Given the description of an element on the screen output the (x, y) to click on. 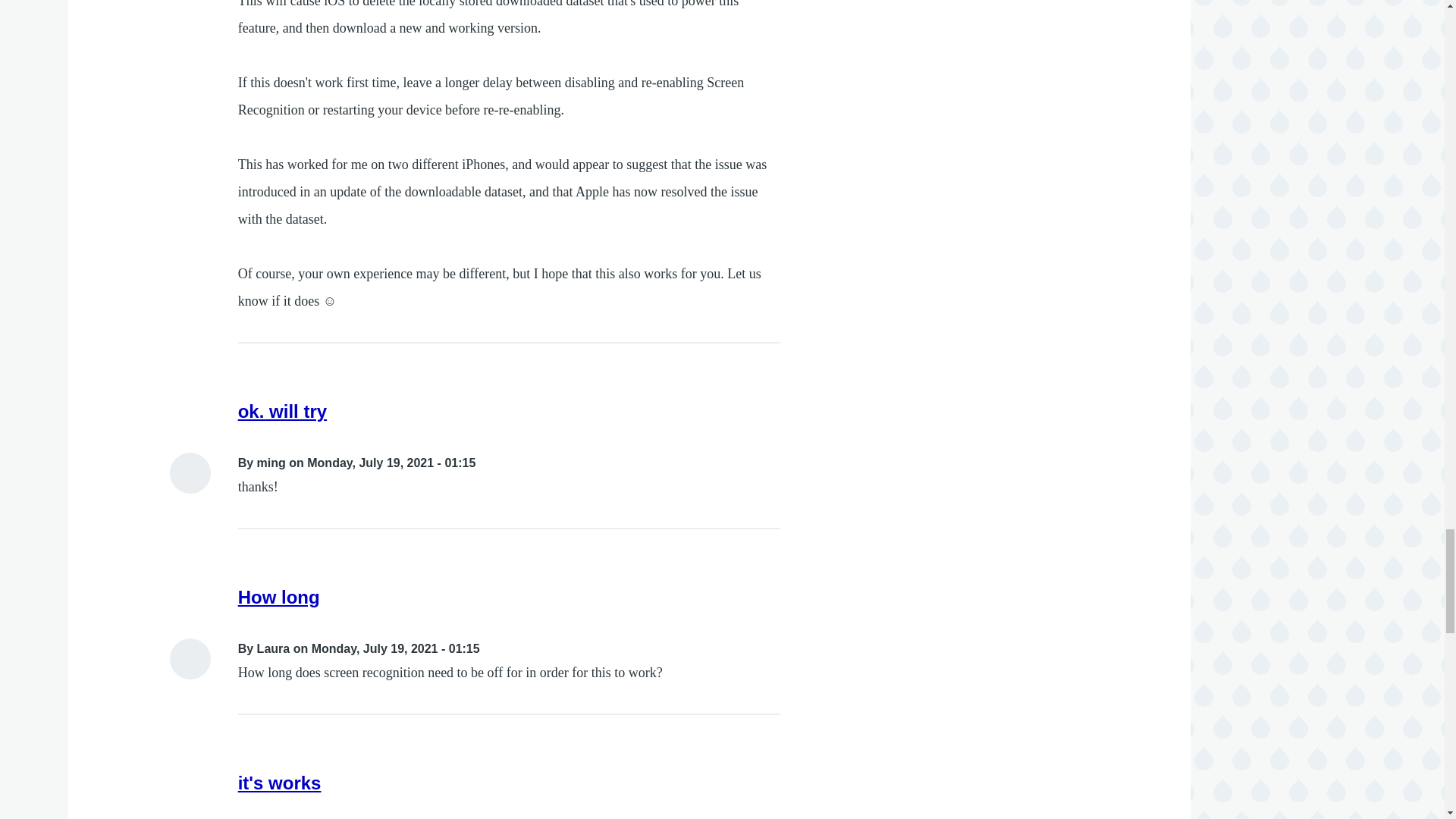
ok. will try (282, 411)
it's works (279, 783)
How long (279, 597)
